Given the description of an element on the screen output the (x, y) to click on. 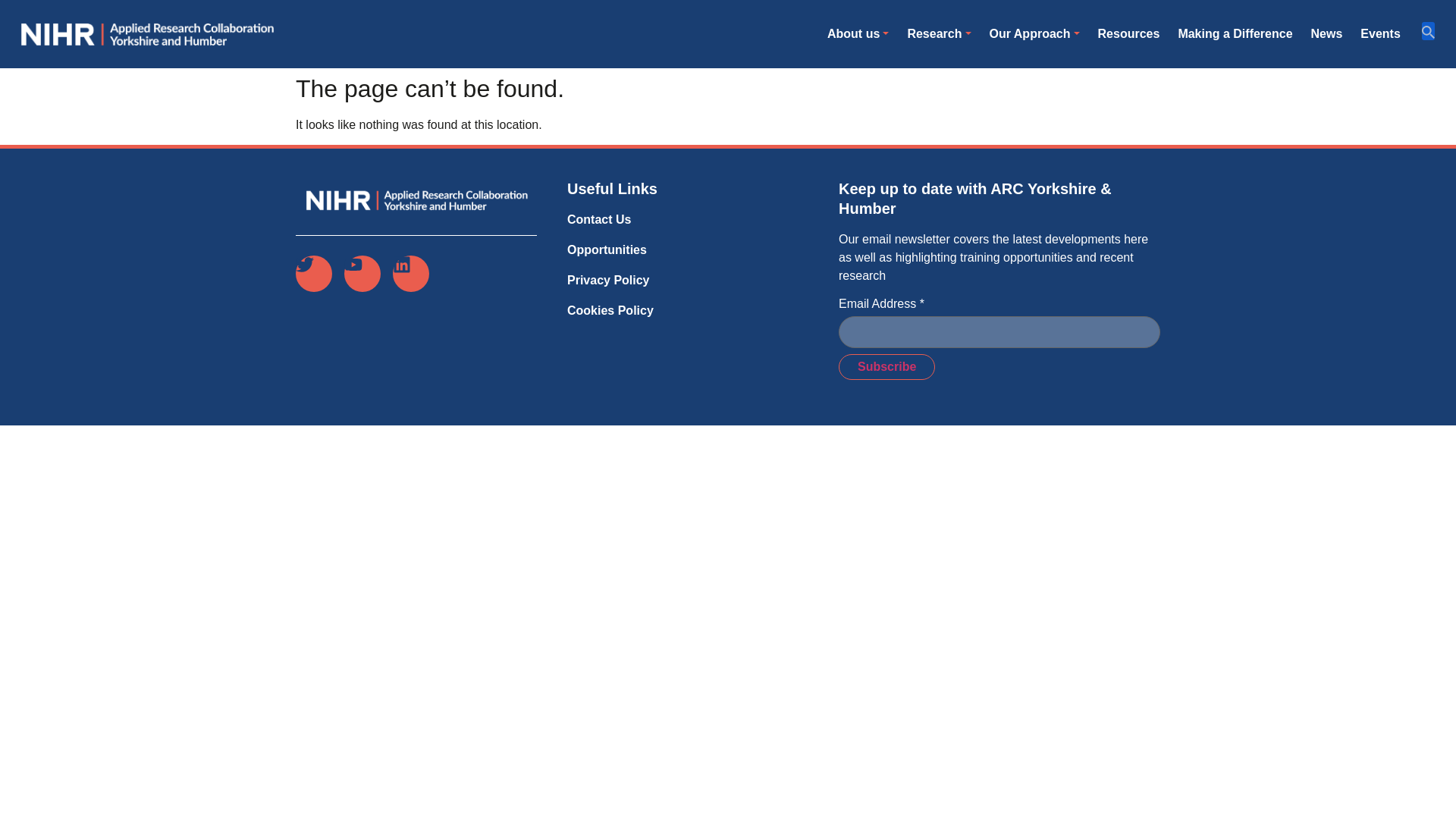
Events (1380, 33)
Research (938, 33)
About us (858, 33)
Subscribe (886, 366)
Contact Us (610, 219)
Resources (1129, 33)
News (1326, 33)
Opportunities (610, 249)
Subscribe (886, 366)
Privacy Policy (610, 280)
Cookies Policy (610, 311)
Making a Difference (1235, 33)
Our Approach (1034, 33)
